Given the description of an element on the screen output the (x, y) to click on. 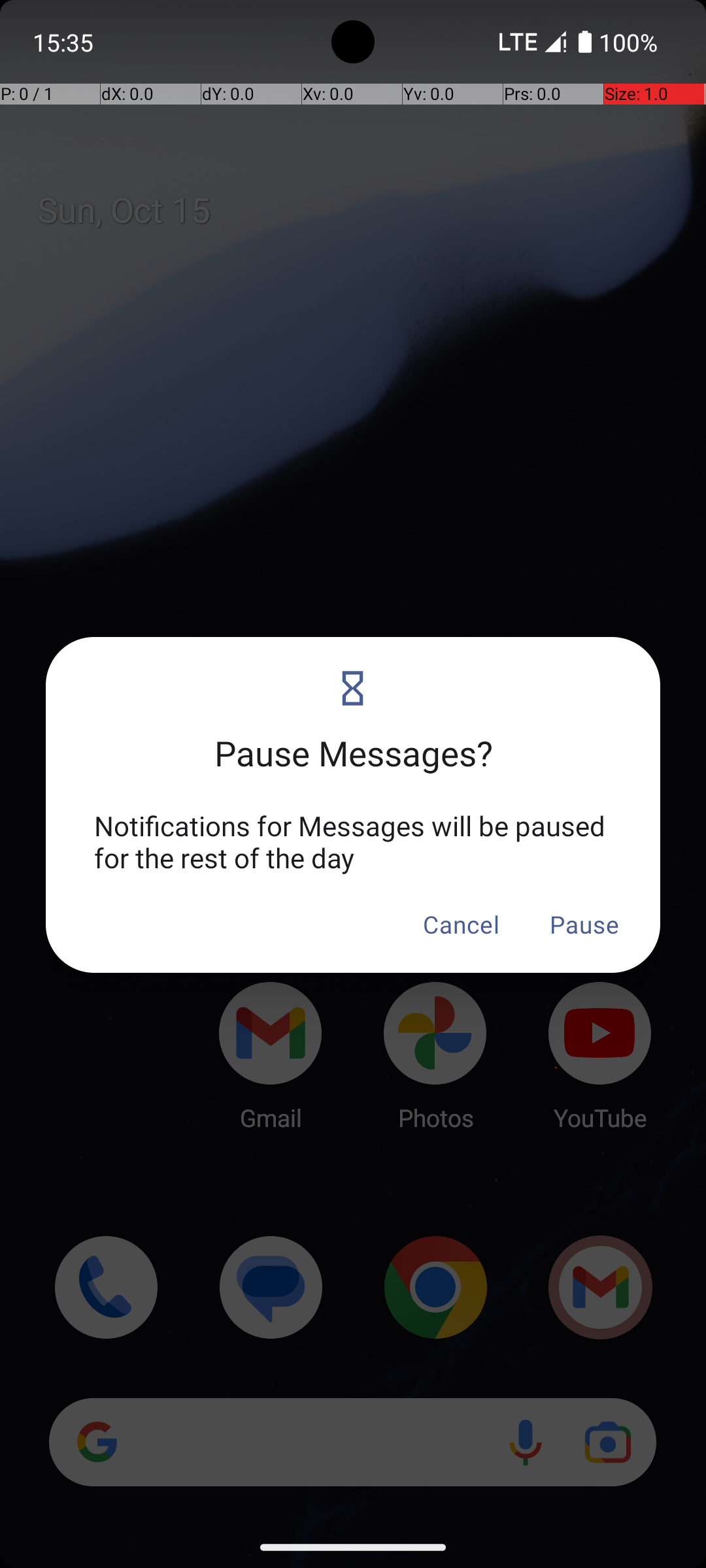
Pause Messages? Element type: android.widget.TextView (352, 736)
Notifications for Messages will be paused for the rest of the day Element type: android.widget.TextView (352, 841)
